Given the description of an element on the screen output the (x, y) to click on. 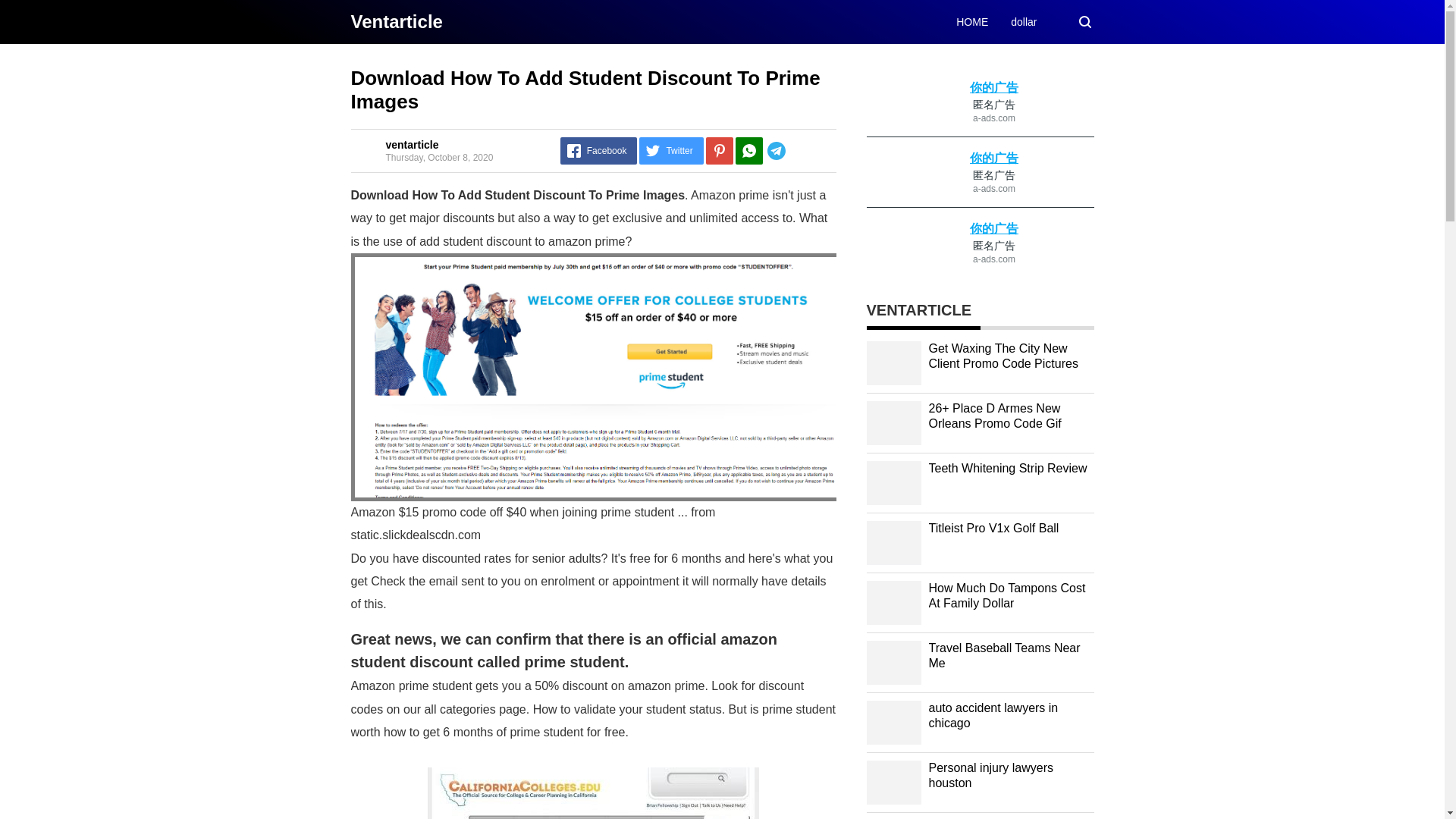
Get Waxing The City New Client Promo Code Pictures (1002, 356)
How Much Do Tampons Cost At Family Dollar (1006, 595)
dollar (1023, 21)
Share on Pinterest (719, 150)
HOME (972, 21)
Facebook (598, 150)
Twitter (671, 150)
Share to Telegram (798, 150)
ventarticle (396, 21)
ventarticle (411, 144)
